Given the description of an element on the screen output the (x, y) to click on. 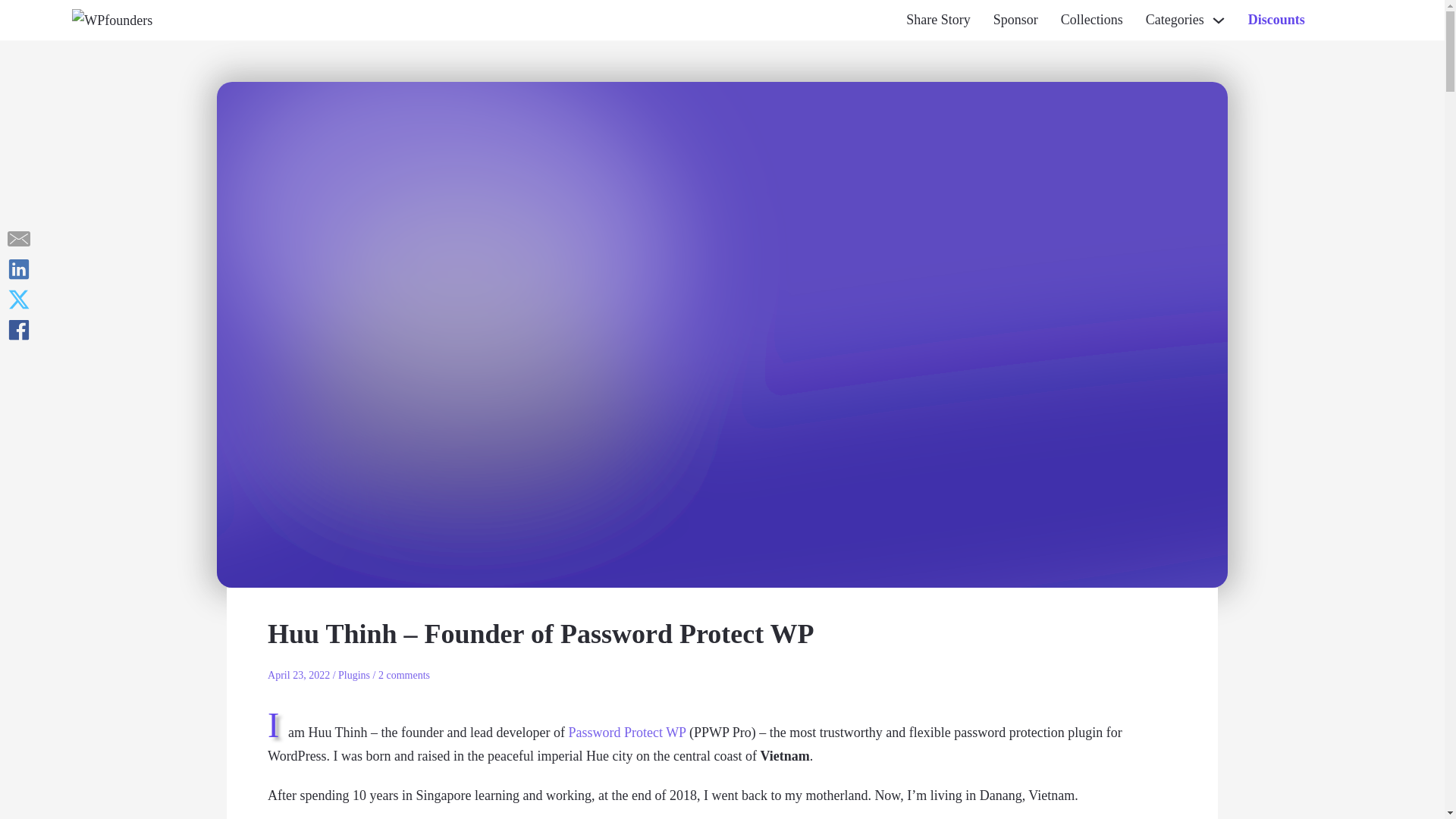
2 comments (403, 674)
Sponsor (1015, 19)
Collections (1091, 19)
Plugins (353, 674)
Share Story (938, 19)
Password Protect WP (626, 732)
Categories (1174, 19)
Discounts (1275, 19)
